Given the description of an element on the screen output the (x, y) to click on. 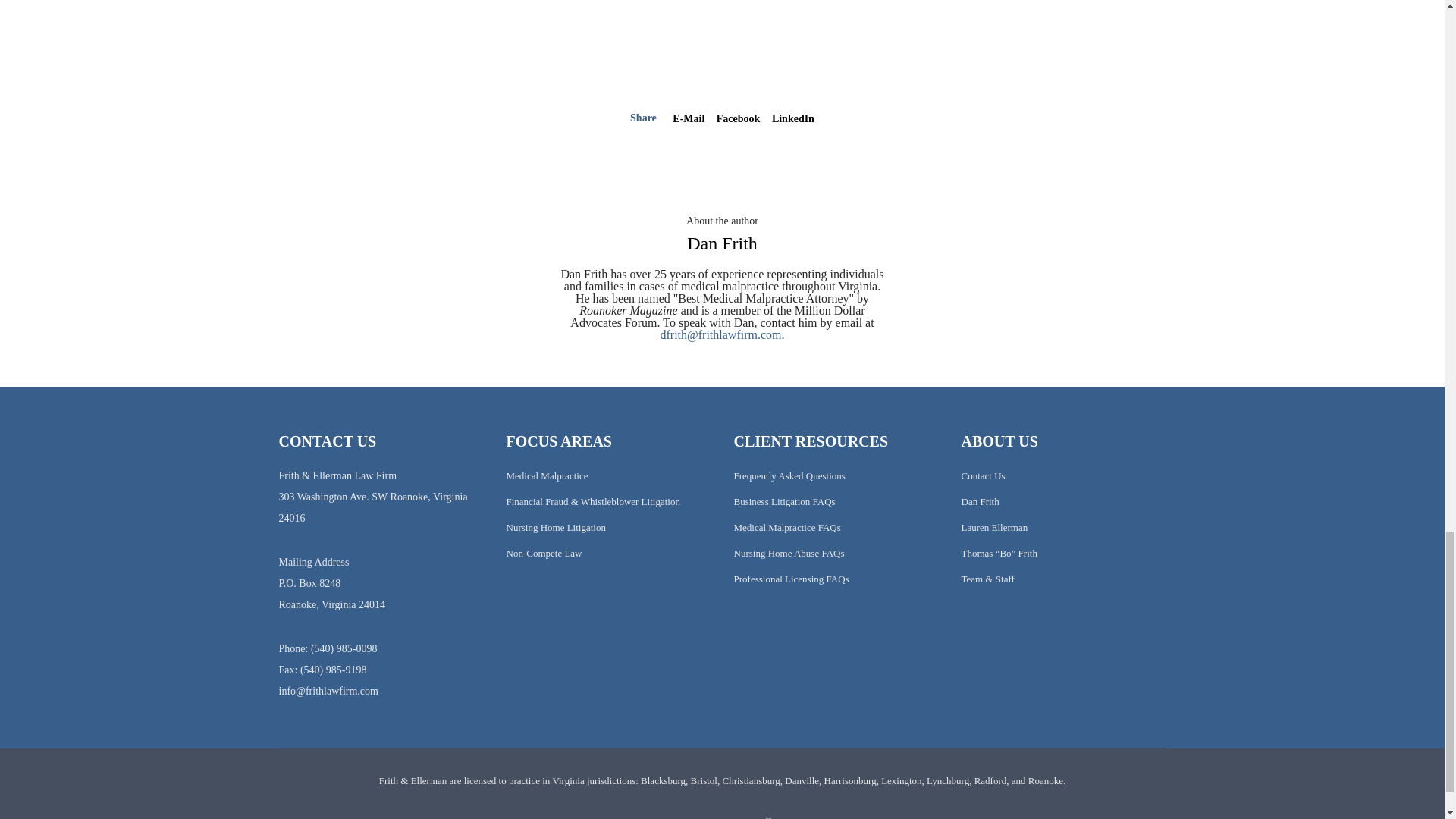
Medical Malpractice (547, 475)
LinkedIn (792, 118)
E-Mail (688, 118)
Dan Frith (721, 242)
Non-Compete Law (544, 552)
Facebook (738, 118)
Nursing Home Litigation (555, 527)
